Given the description of an element on the screen output the (x, y) to click on. 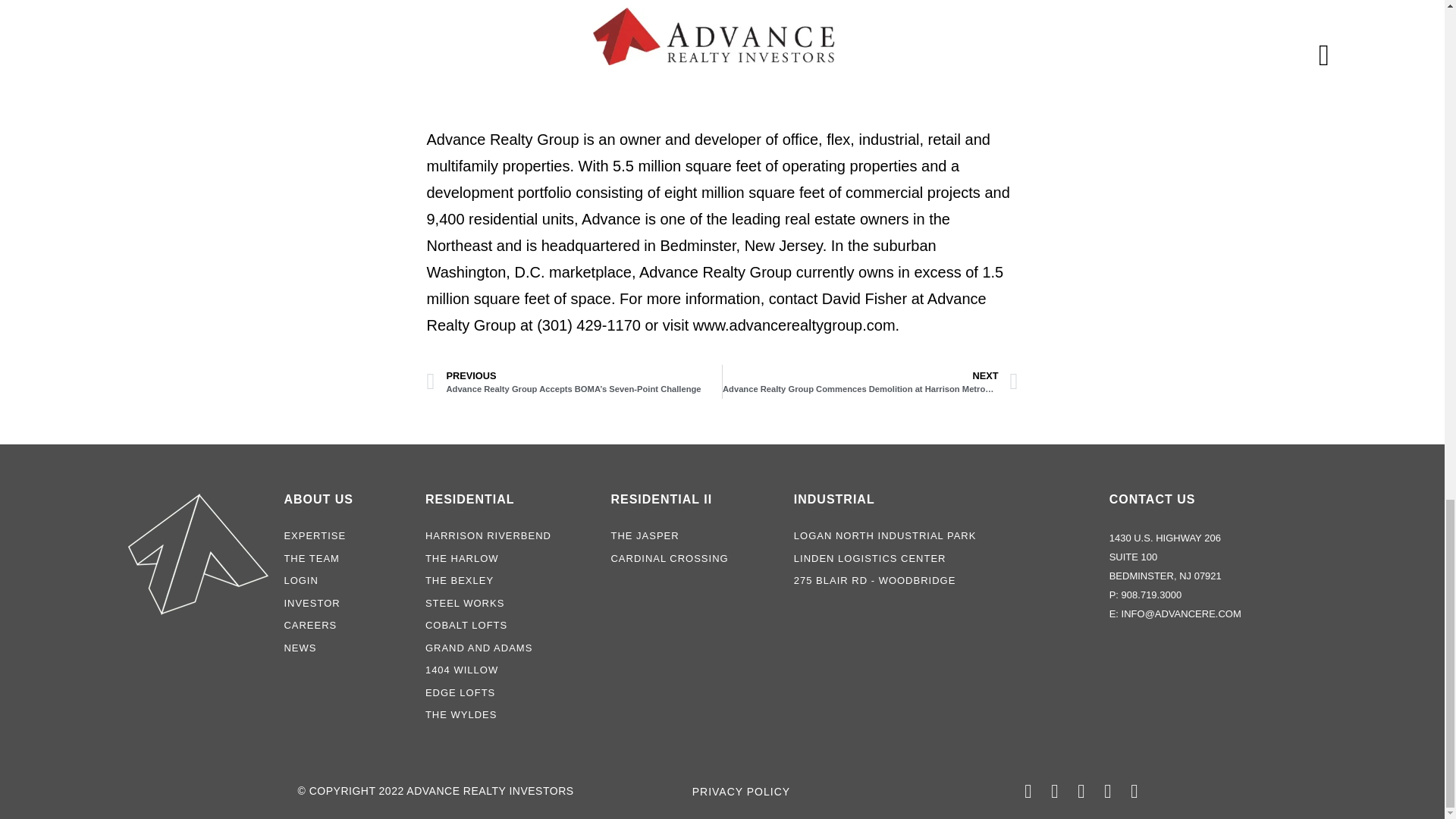
1404 WILLOW (510, 670)
THE HARLOW (510, 558)
LOGIN (346, 580)
LOGAN NORTH INDUSTRIAL PARK (943, 535)
THE BEXLEY (510, 580)
STEEL WORKS (510, 603)
THE TEAM (346, 558)
908.719.3000 (1151, 594)
THE JASPER (693, 535)
CARDINAL CROSSING (693, 558)
LINDEN LOGISTICS CENTER (943, 558)
EDGE LOFTS (510, 693)
EXPERTISE (346, 535)
THE WYLDES (510, 714)
